Given the description of an element on the screen output the (x, y) to click on. 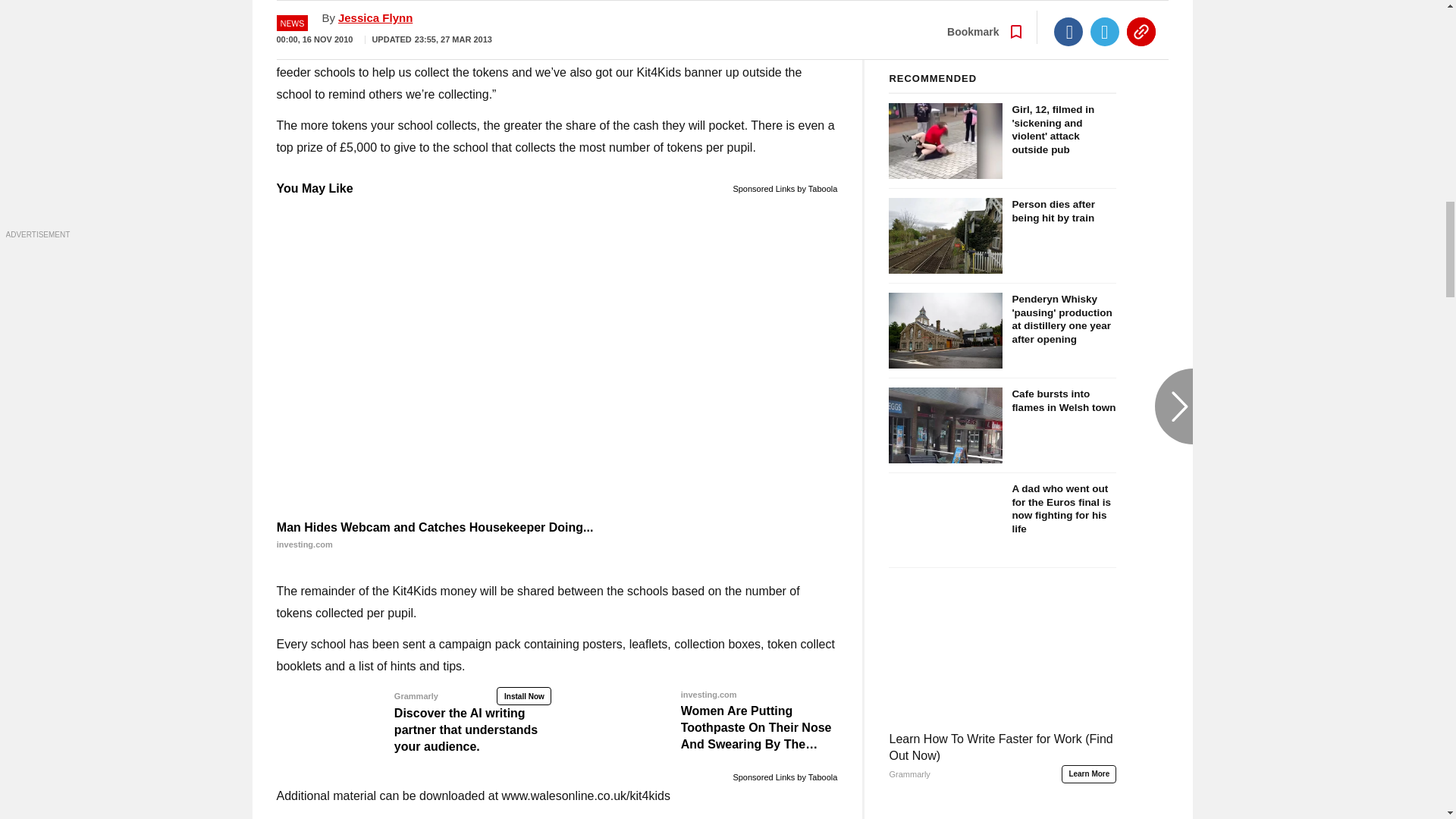
Man Hides Webcam and Catches Housekeeper Doing... (557, 535)
